Given the description of an element on the screen output the (x, y) to click on. 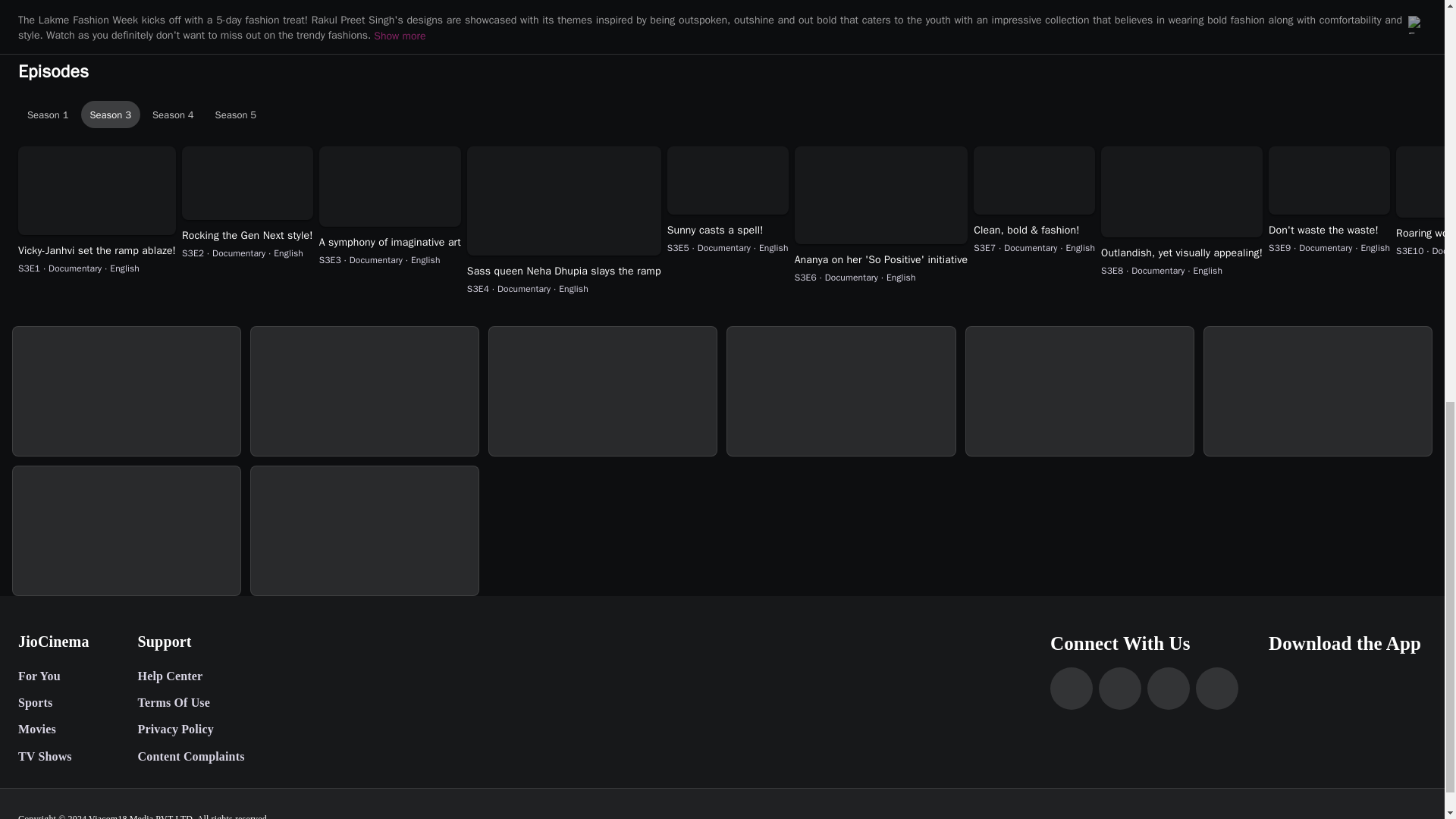
Season 1 (47, 113)
A symphony of imaginative art (389, 242)
Sass queen Neha Dhupia slays the ramp (564, 271)
Rocking the Gen Next style! (247, 235)
Vicky-Janhvi set the ramp ablaze! (96, 250)
Season 3 (111, 113)
Season 4 (172, 113)
Sunny casts a spell! (727, 230)
Ananya on her 'So Positive' initiative (881, 259)
